Given the description of an element on the screen output the (x, y) to click on. 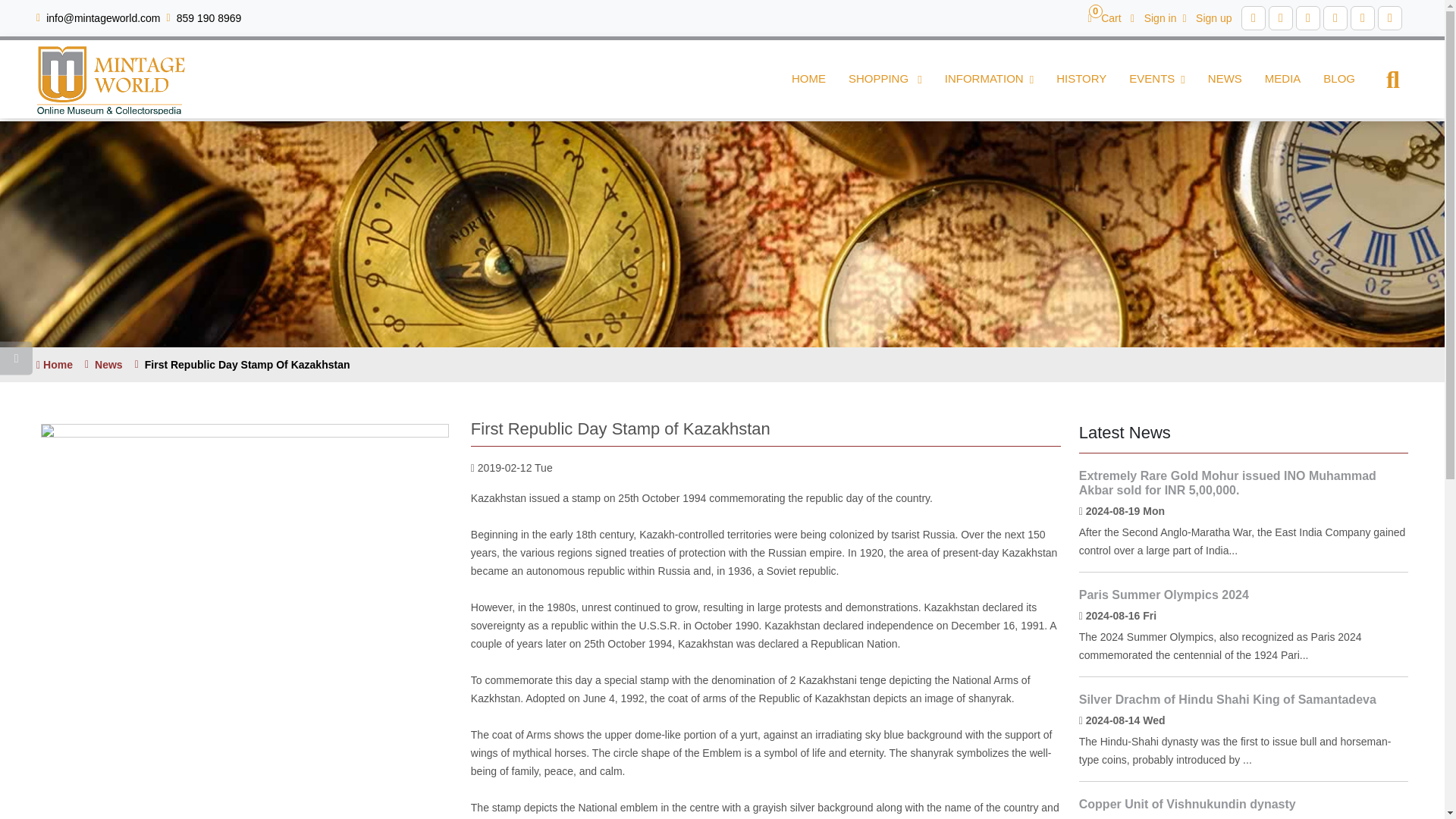
INFORMATION (988, 78)
Sign in (1153, 18)
Sign in (1153, 18)
SHOPPING (884, 78)
Cart (1104, 18)
Sign up (1104, 18)
Sign up (1206, 18)
859 190 8969 (1206, 18)
